Given the description of an element on the screen output the (x, y) to click on. 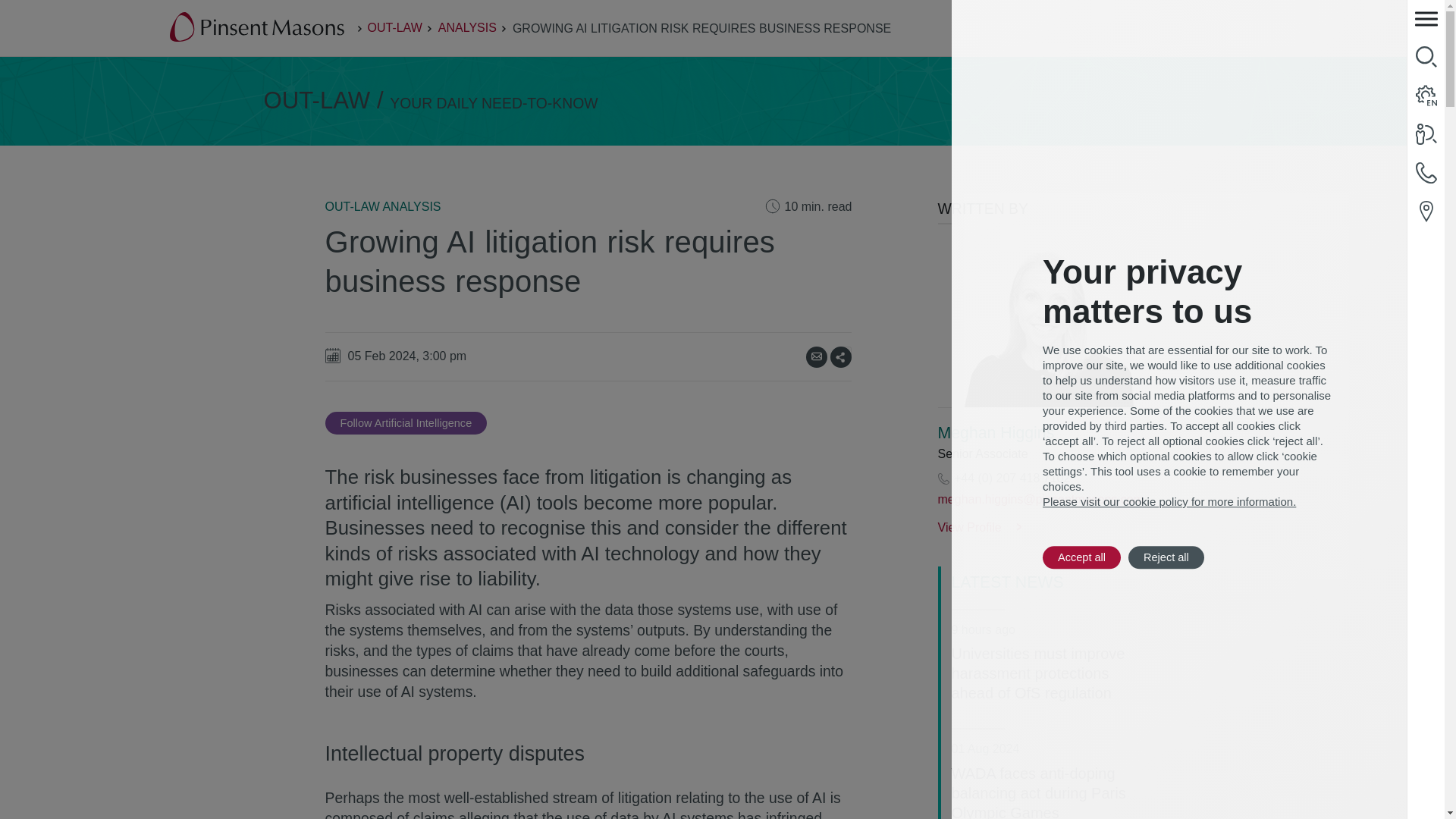
ANALYSIS (467, 27)
Email (816, 356)
Save in your preference settings (405, 422)
on (846, 351)
Pinsent Masons (257, 28)
OUT-LAW (394, 27)
